Given the description of an element on the screen output the (x, y) to click on. 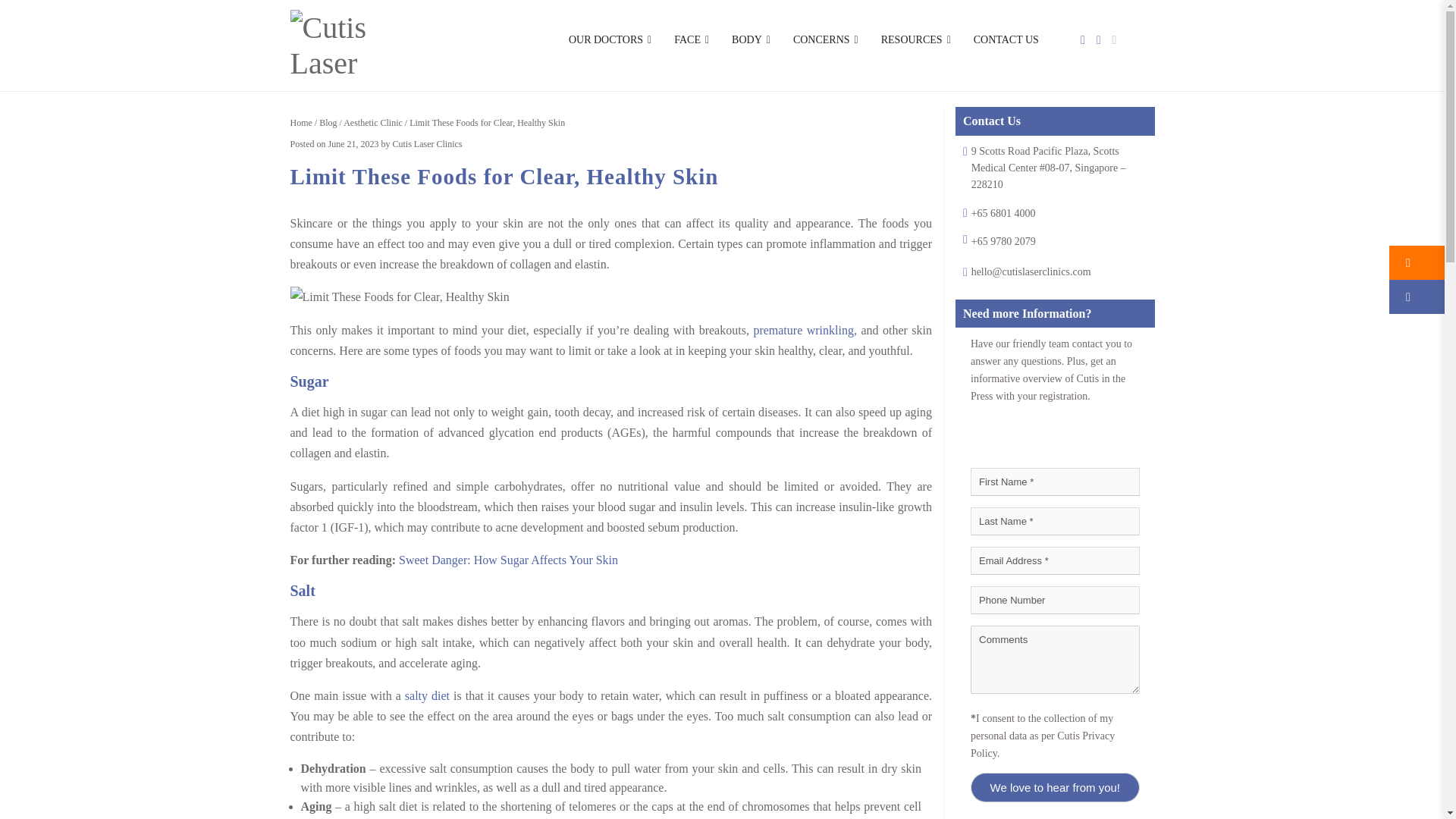
OUR DOCTORS (609, 39)
We love to hear from you! (1055, 787)
FACE (691, 39)
